Given the description of an element on the screen output the (x, y) to click on. 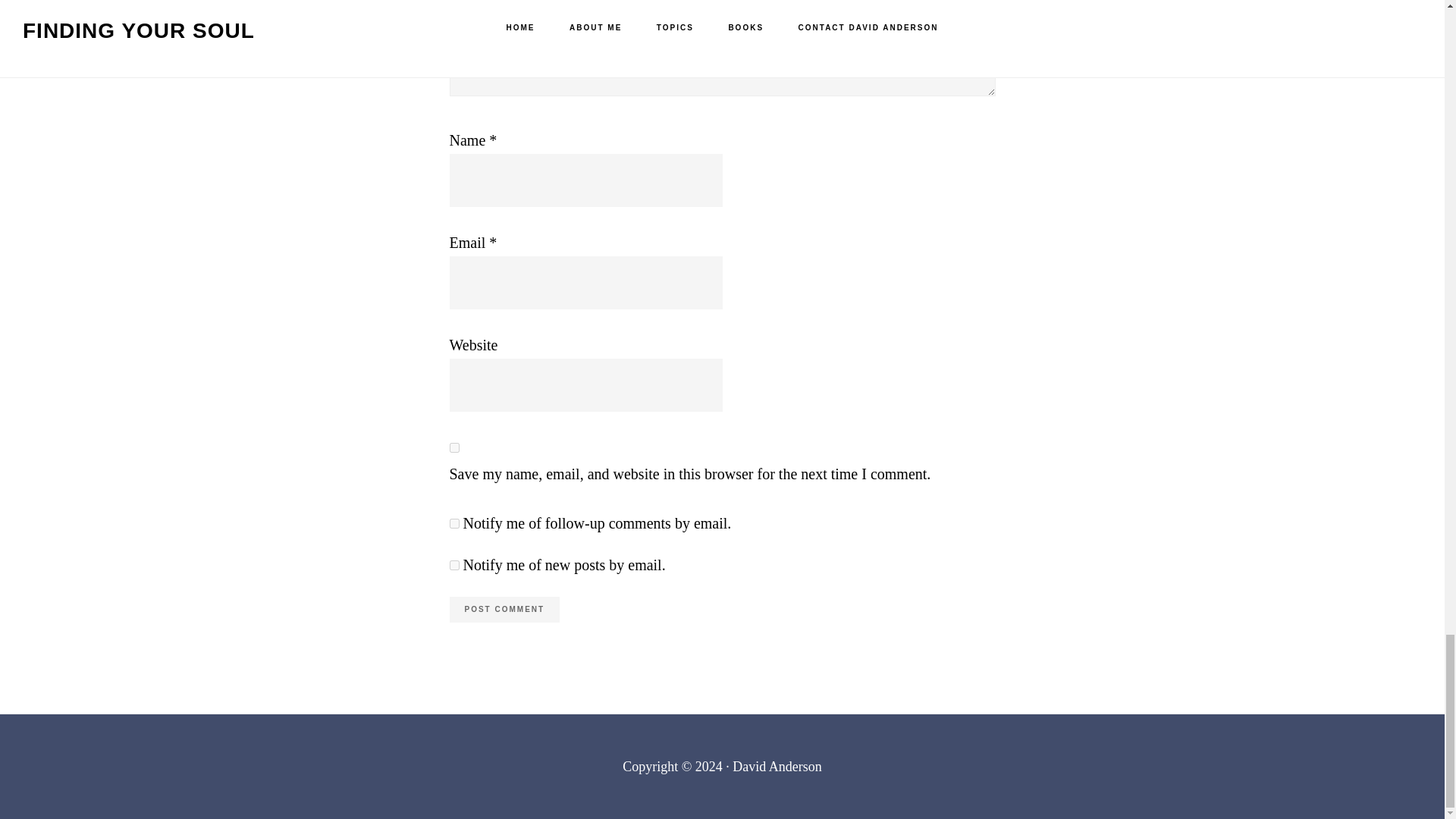
subscribe (453, 565)
Post Comment (503, 609)
subscribe (453, 523)
Post Comment (503, 609)
yes (453, 447)
